Given the description of an element on the screen output the (x, y) to click on. 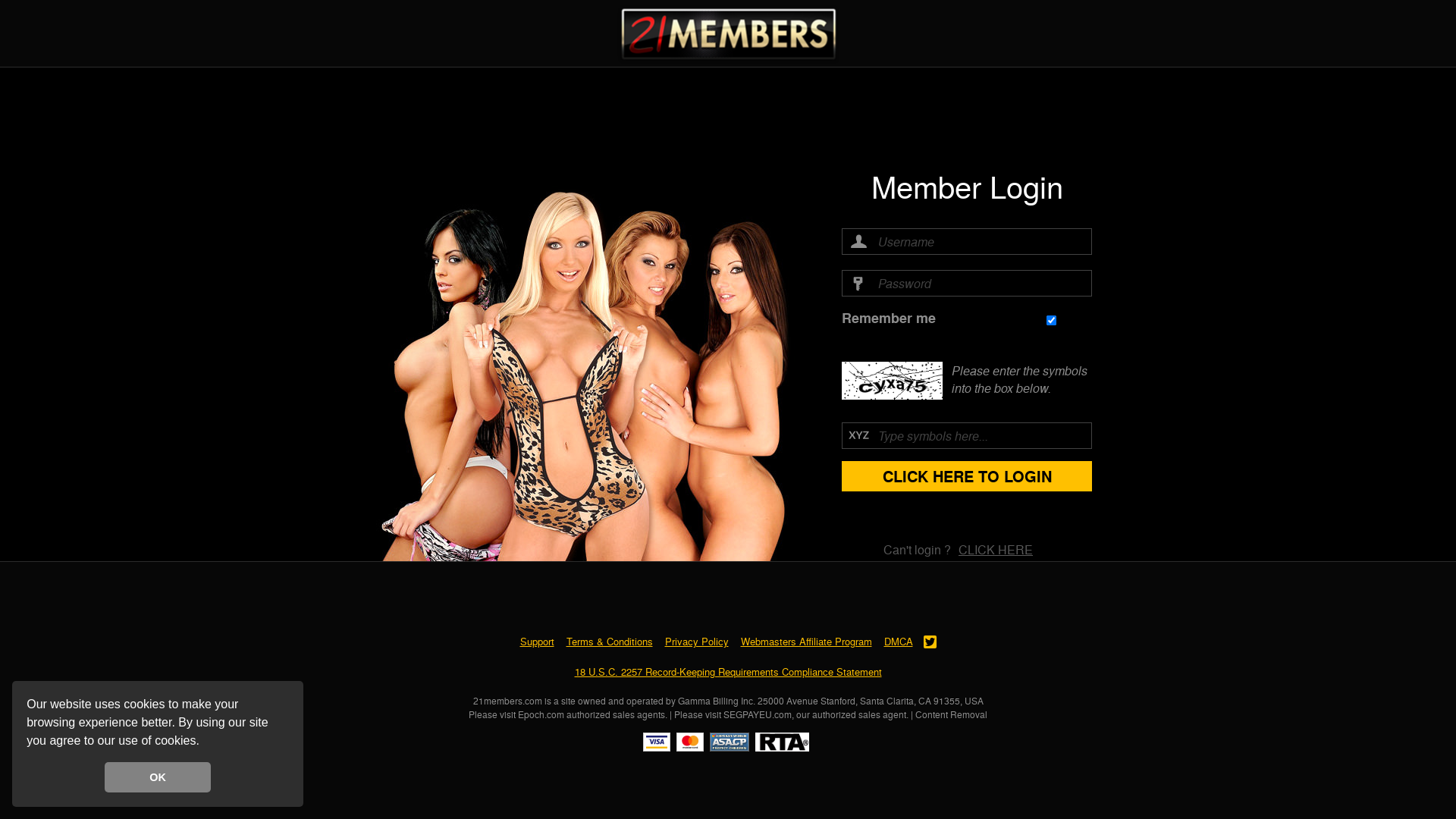
CLICK HERE Element type: text (995, 549)
Content Removal Element type: text (951, 714)
Terms & Conditions Element type: text (608, 640)
Click here to login Element type: text (966, 476)
Epoch.com Element type: text (540, 714)
Login on 21 Members Element type: hover (727, 33)
Support Element type: text (537, 640)
DMCA Element type: text (898, 640)
SEGPAYEU.com Element type: text (757, 714)
Webmasters Affiliate Program Element type: text (805, 640)
Privacy Policy Element type: text (696, 640)
OK Element type: text (157, 777)
